Given the description of an element on the screen output the (x, y) to click on. 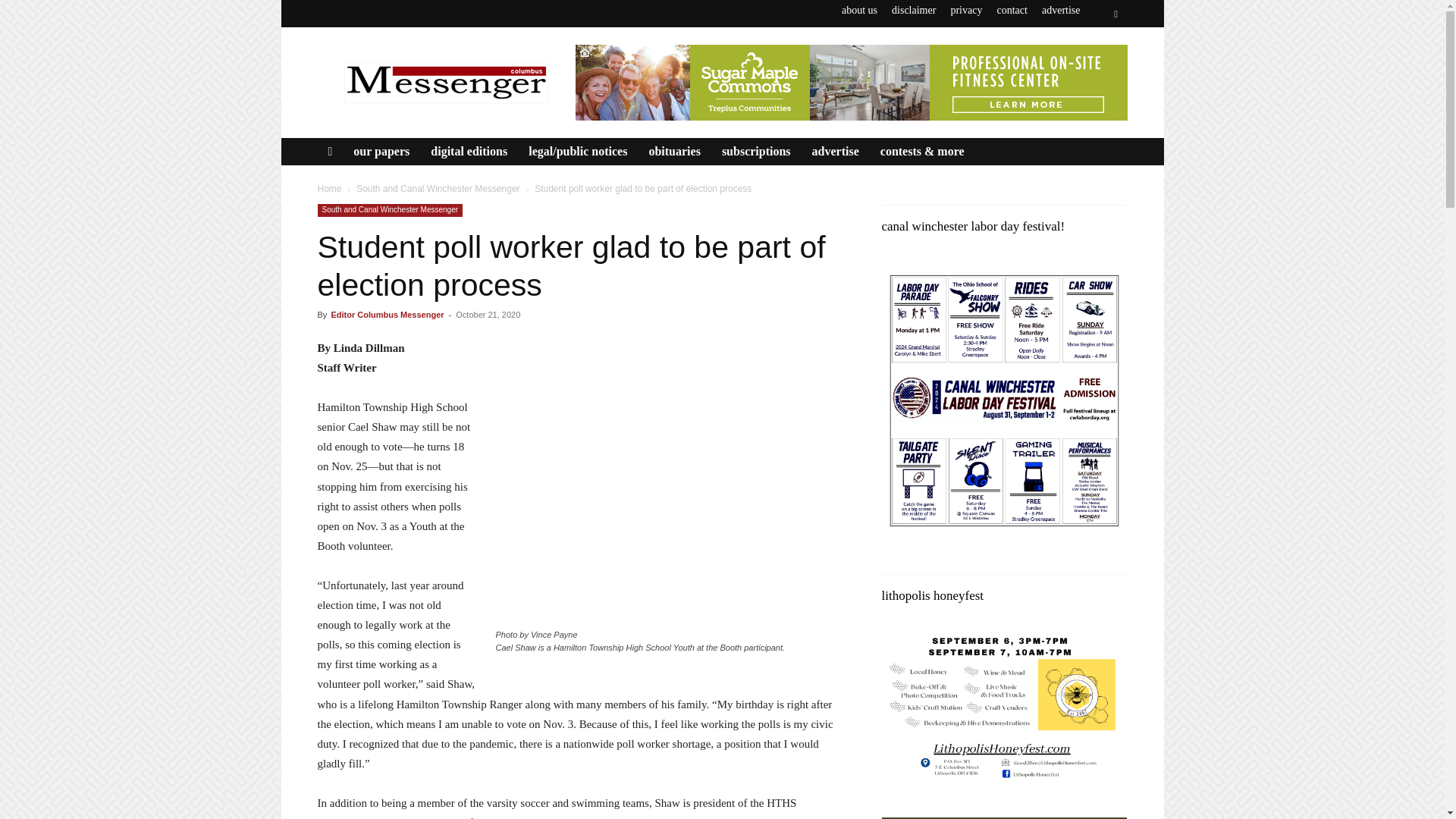
Search (1085, 70)
about us (859, 9)
our papers (381, 151)
contact (1010, 9)
advertise (1061, 9)
Columbus Messenger - Ohios Newspaper (445, 82)
privacy (965, 9)
View all posts in South and Canal Winchester Messenger (437, 188)
disclaimer (913, 9)
